Given the description of an element on the screen output the (x, y) to click on. 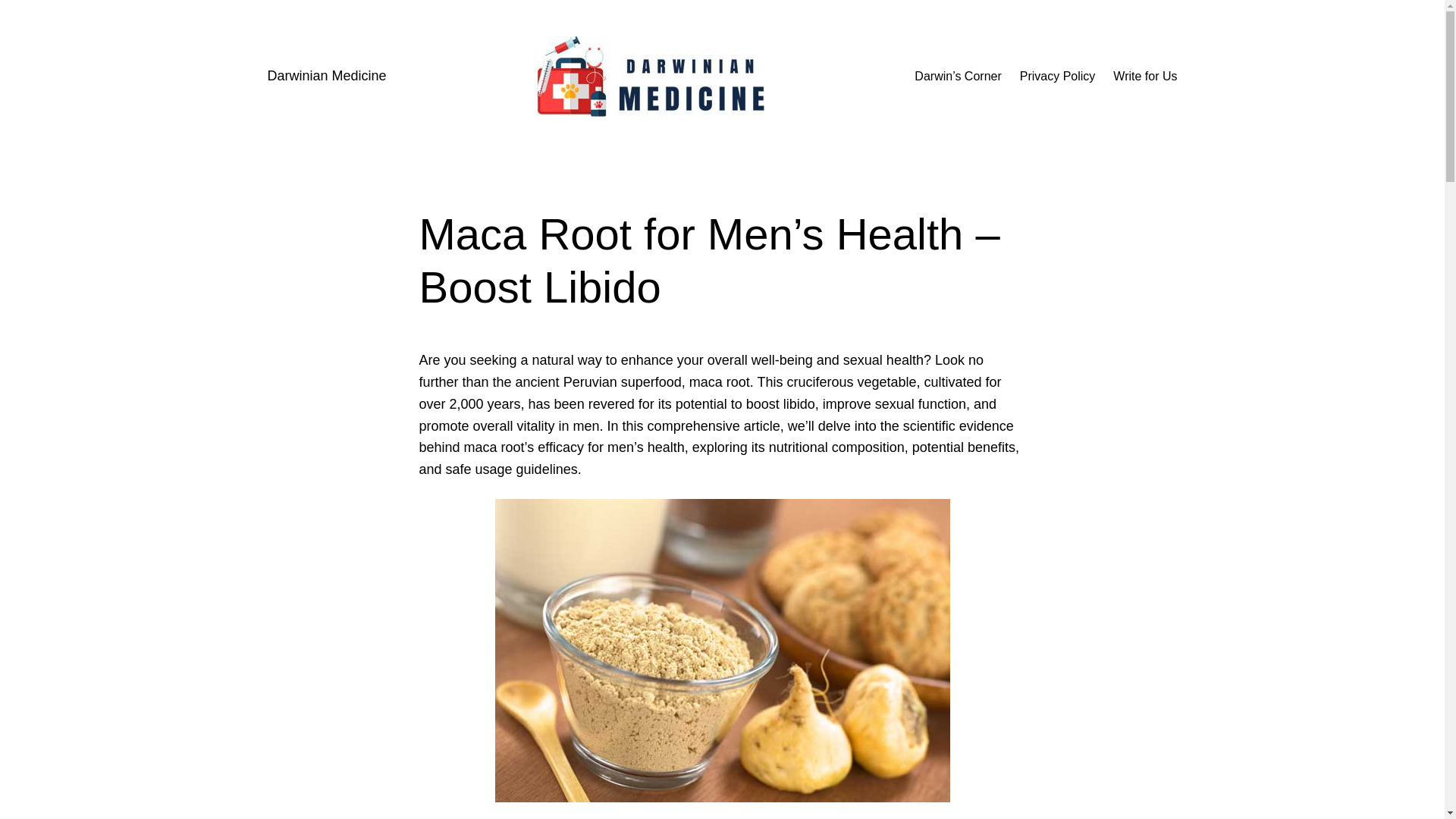
Privacy Policy (1058, 76)
Darwinian Medicine (325, 75)
Write for Us (1144, 76)
